Given the description of an element on the screen output the (x, y) to click on. 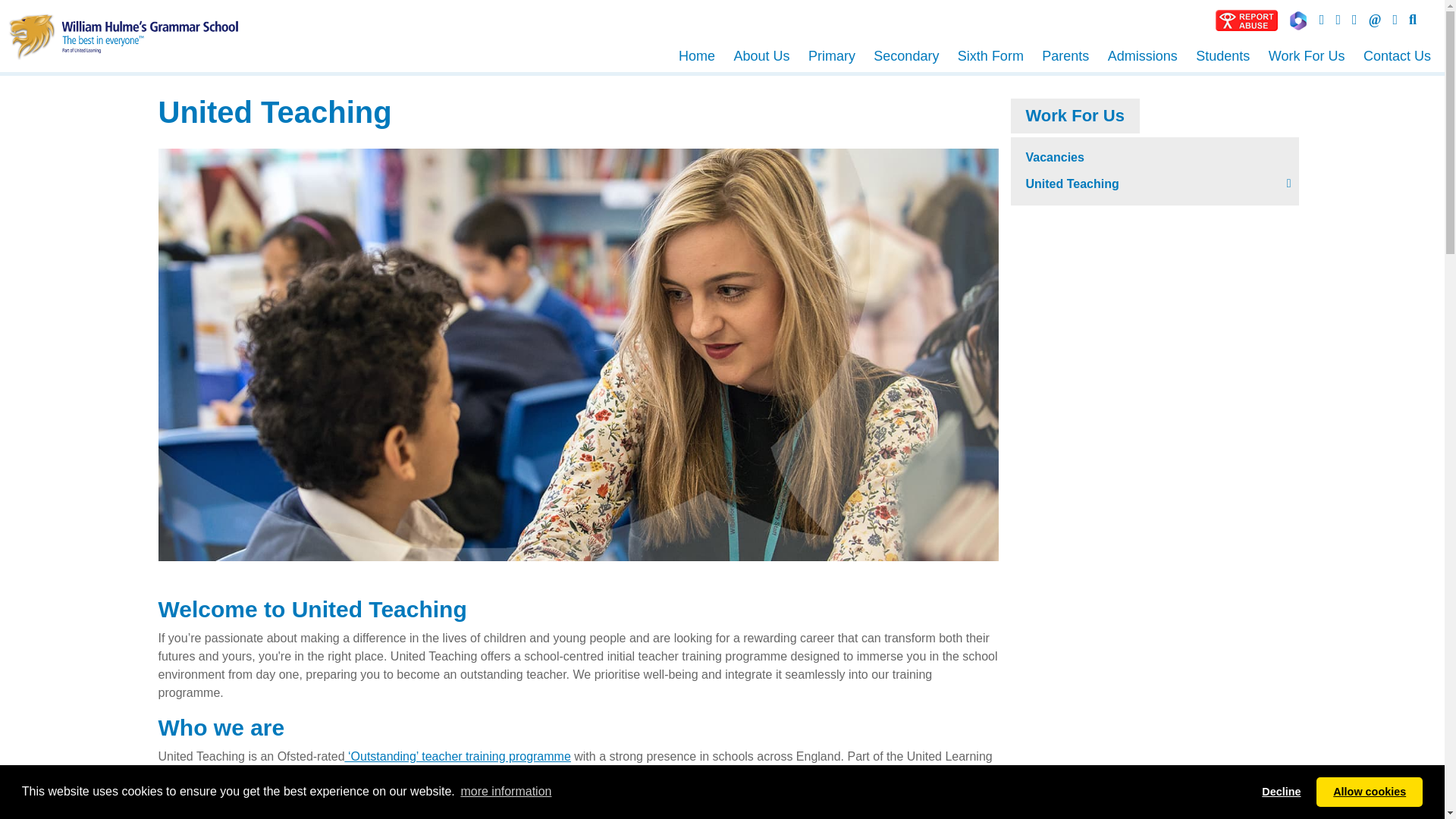
Office 365 (1298, 20)
Report Abuse (1246, 20)
Primary (831, 56)
Decline (1281, 791)
more information (505, 791)
William Hulme's Grammar School (123, 34)
Twitter (1337, 19)
Search (1413, 19)
About Us (760, 56)
Home (696, 56)
Allow cookies (1369, 791)
Maps (1354, 19)
Contact Us (1375, 19)
Secondary (906, 56)
Safeguarding (1321, 19)
